Given the description of an element on the screen output the (x, y) to click on. 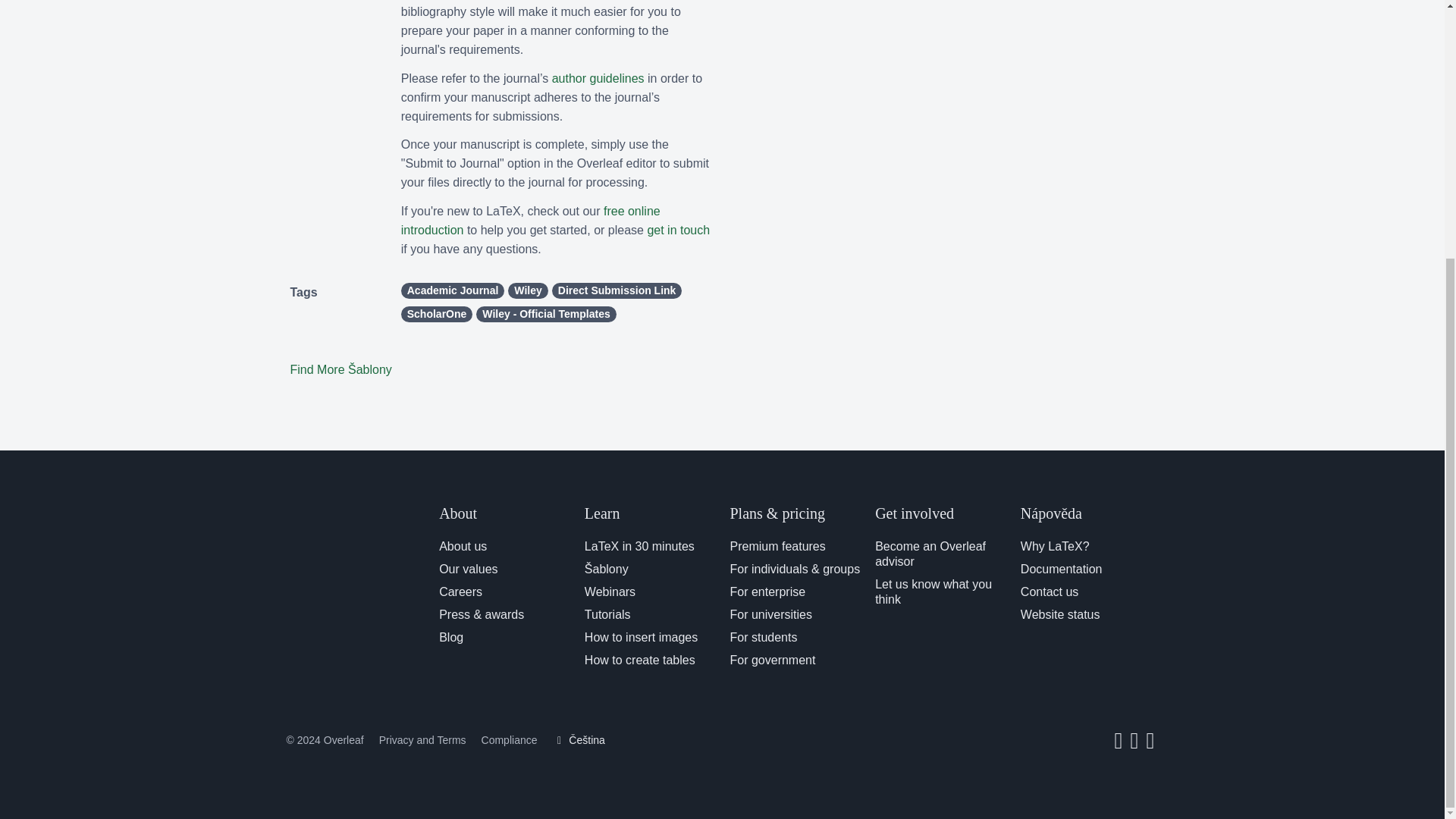
Our values (468, 568)
Wiley (527, 290)
Direct Submission Link (616, 290)
free online introduction (531, 220)
get in touch (678, 229)
Academic Journal (453, 290)
Blog (451, 636)
Careers (460, 591)
Wiley - Official Templates (545, 314)
author guidelines (598, 78)
